Given the description of an element on the screen output the (x, y) to click on. 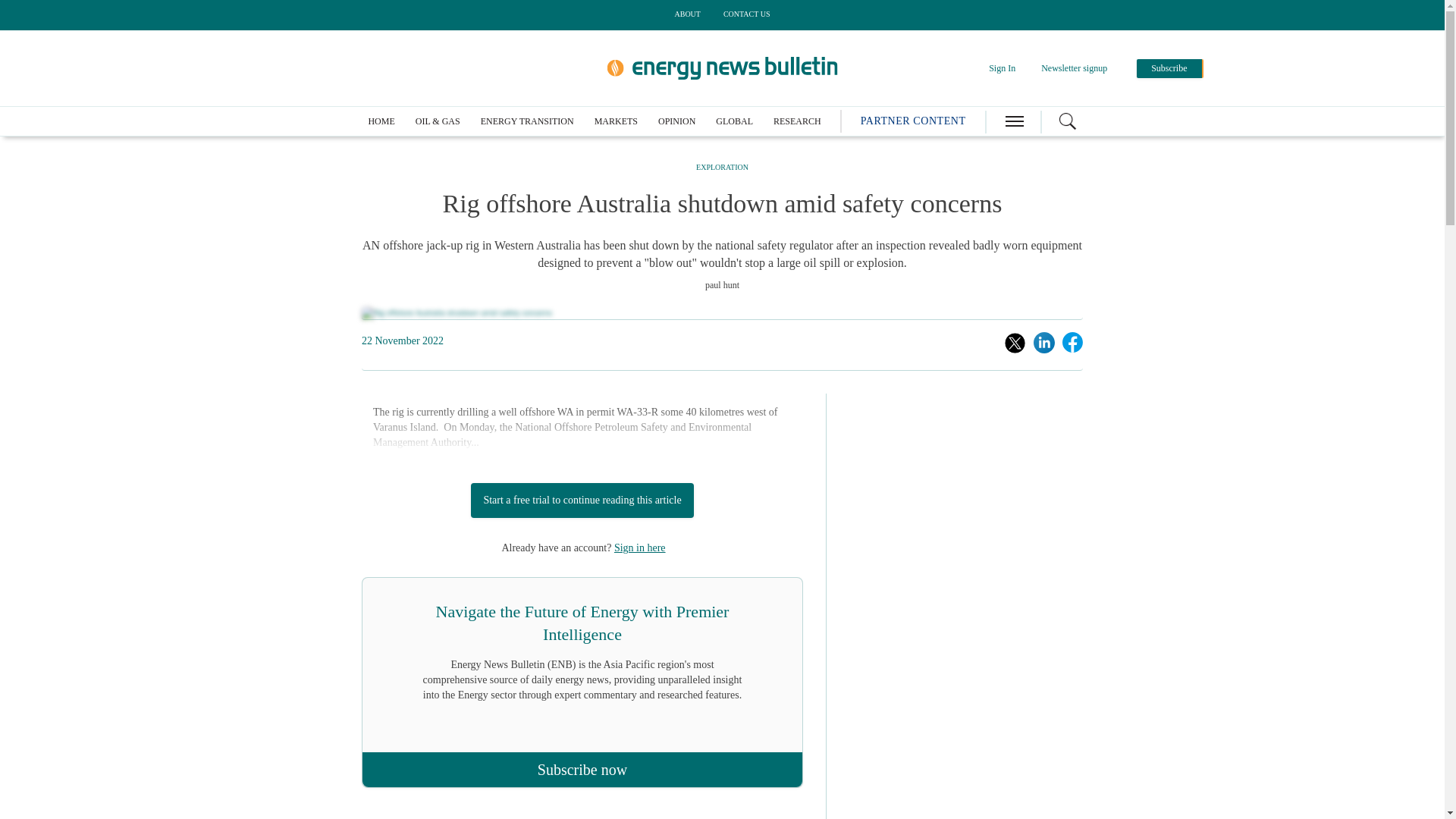
HOME (381, 121)
Newsletter signup (1073, 68)
CONTACT US (746, 13)
OPINION (676, 121)
OPINION (676, 121)
GLOBAL (734, 121)
HOME (381, 121)
ENERGY TRANSITION (526, 121)
MARKETS (615, 121)
Subscribe (1169, 67)
RESEARCH (797, 121)
RESEARCH (797, 121)
MARKETS (615, 121)
Sign In (1001, 68)
GLOBAL (734, 121)
